Given the description of an element on the screen output the (x, y) to click on. 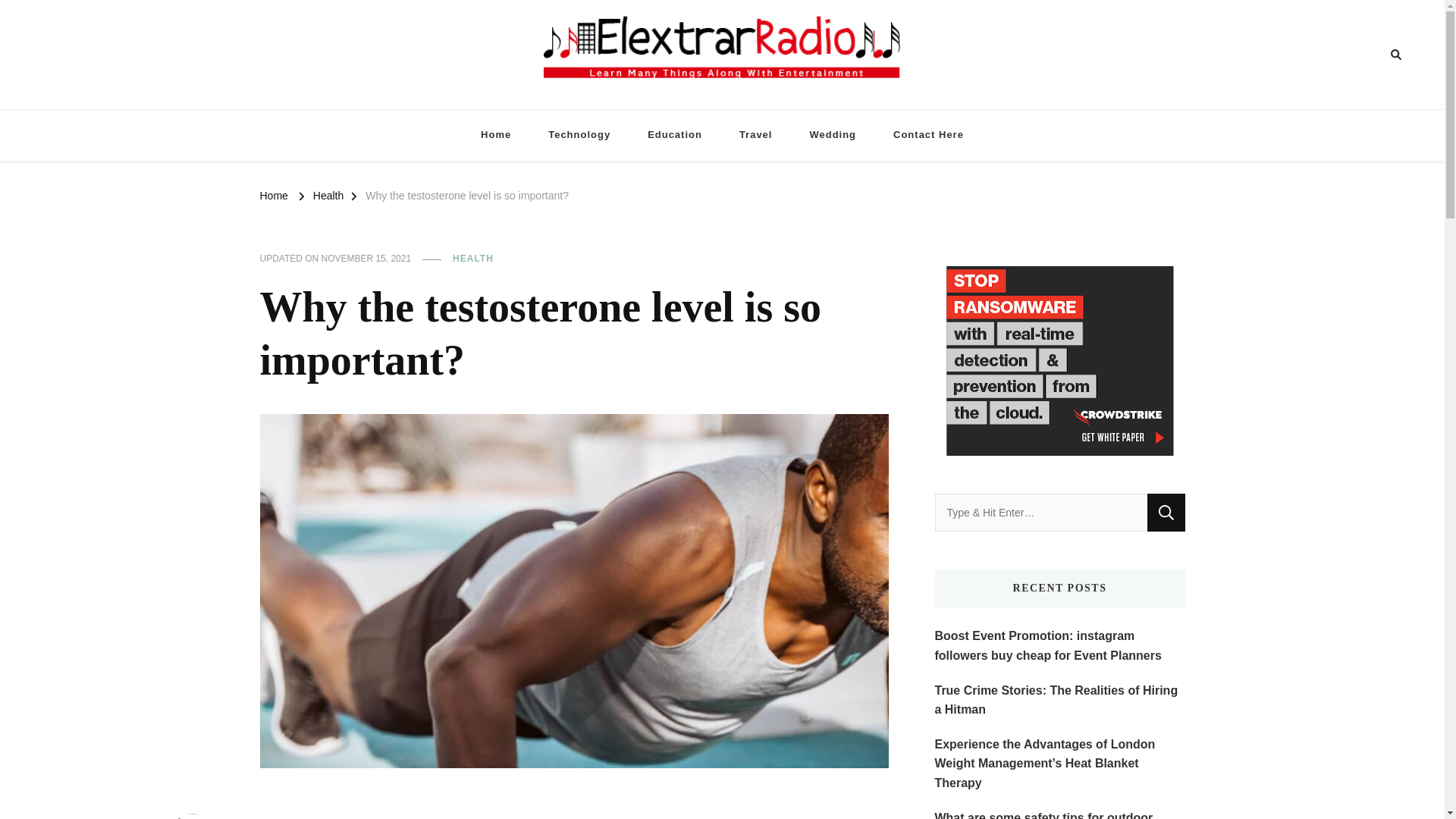
Wedding (832, 134)
Elextrar Radio (794, 112)
True Crime Stories: The Realities of Hiring a Hitman (1059, 699)
Search (1166, 512)
Home (495, 134)
Home (272, 194)
Search (1166, 512)
HEALTH (472, 259)
What are some safety tips for outdoor rooftop dining? (1059, 813)
Contact Here (927, 134)
KINGSLEY (193, 816)
Search (1166, 512)
NOVEMBER 15, 2021 (366, 259)
Search (1368, 54)
Health (328, 194)
